Given the description of an element on the screen output the (x, y) to click on. 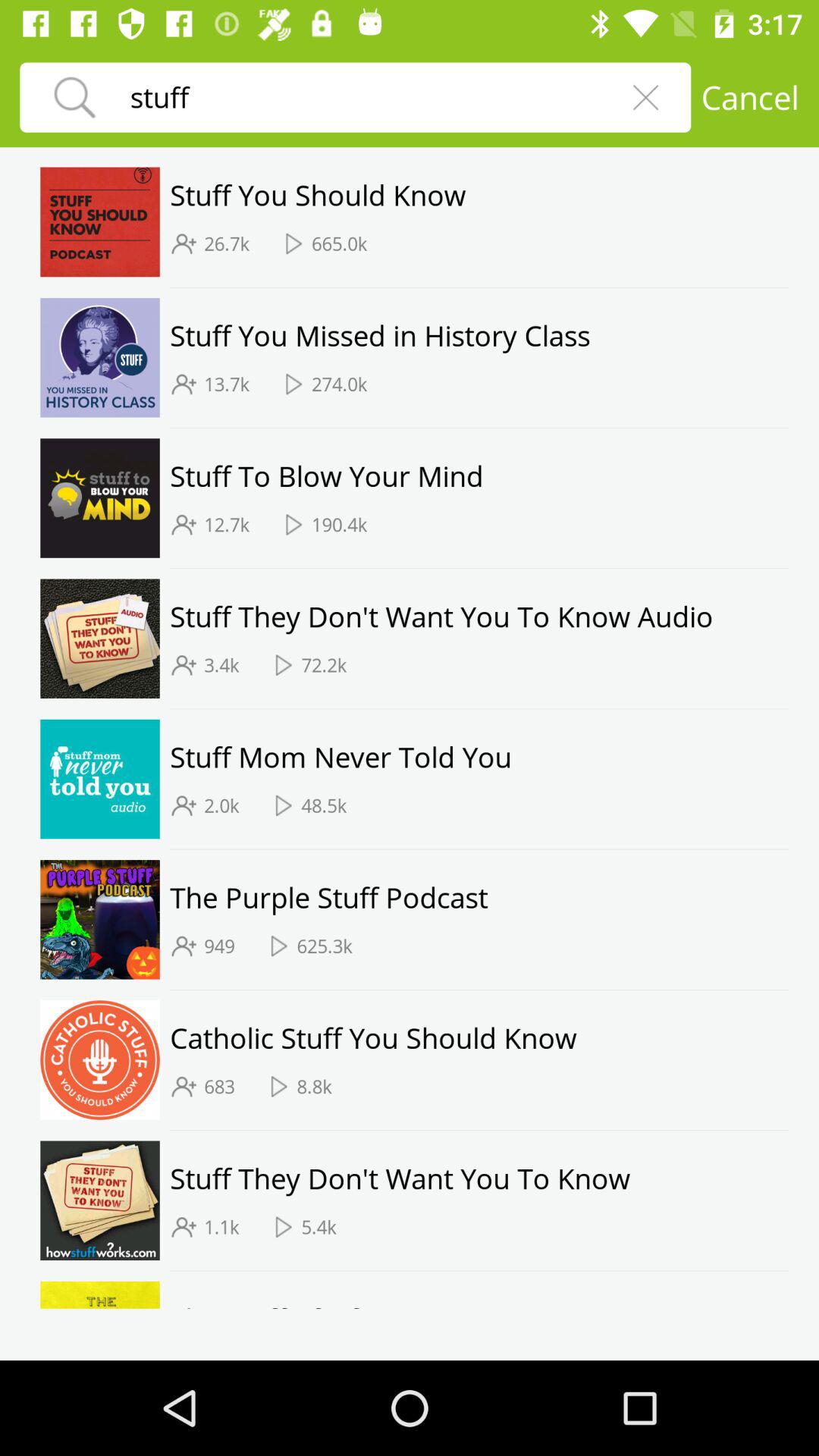
choose item to the right of stuff icon (645, 97)
